Given the description of an element on the screen output the (x, y) to click on. 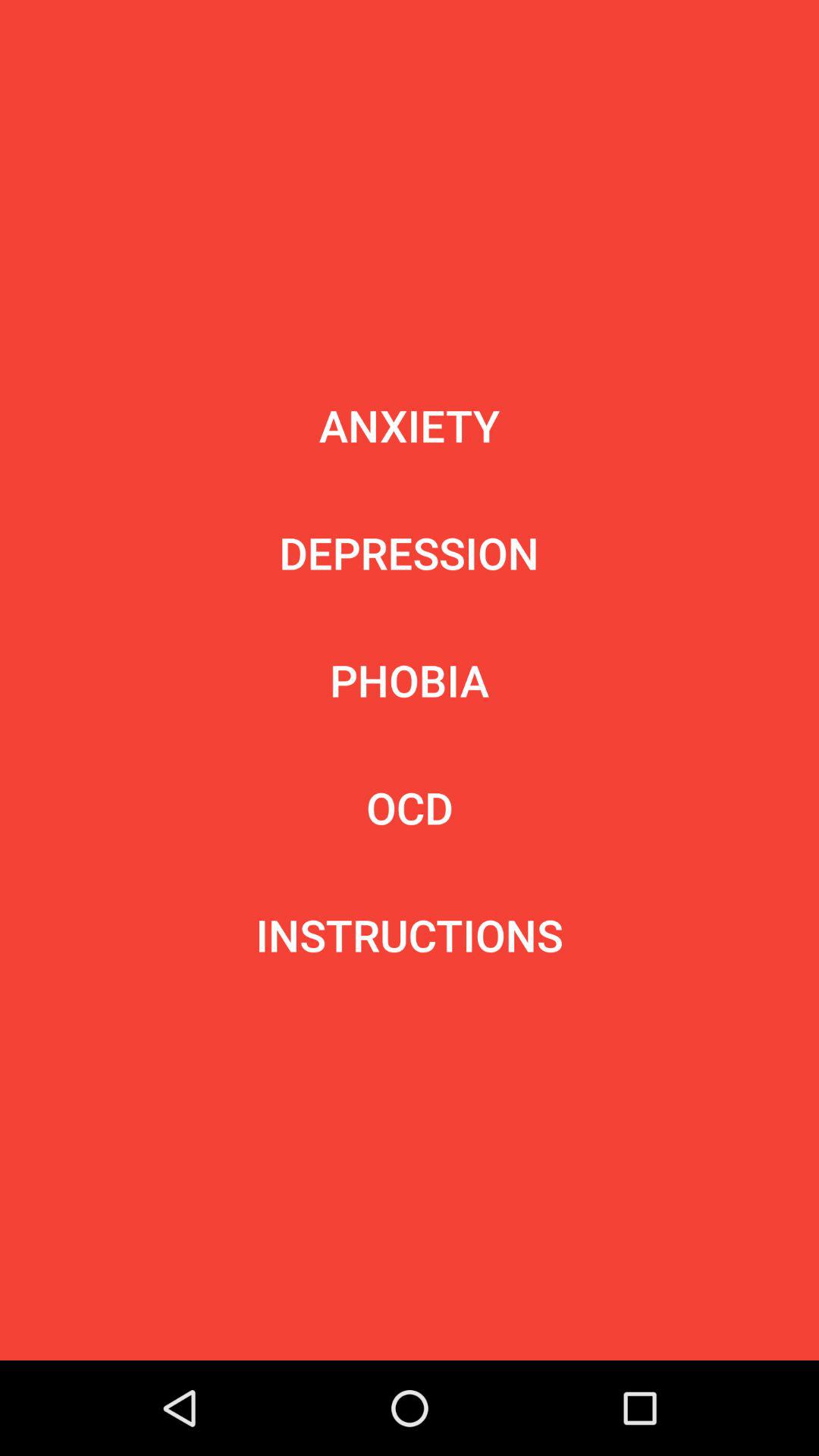
scroll until phobia item (409, 680)
